Given the description of an element on the screen output the (x, y) to click on. 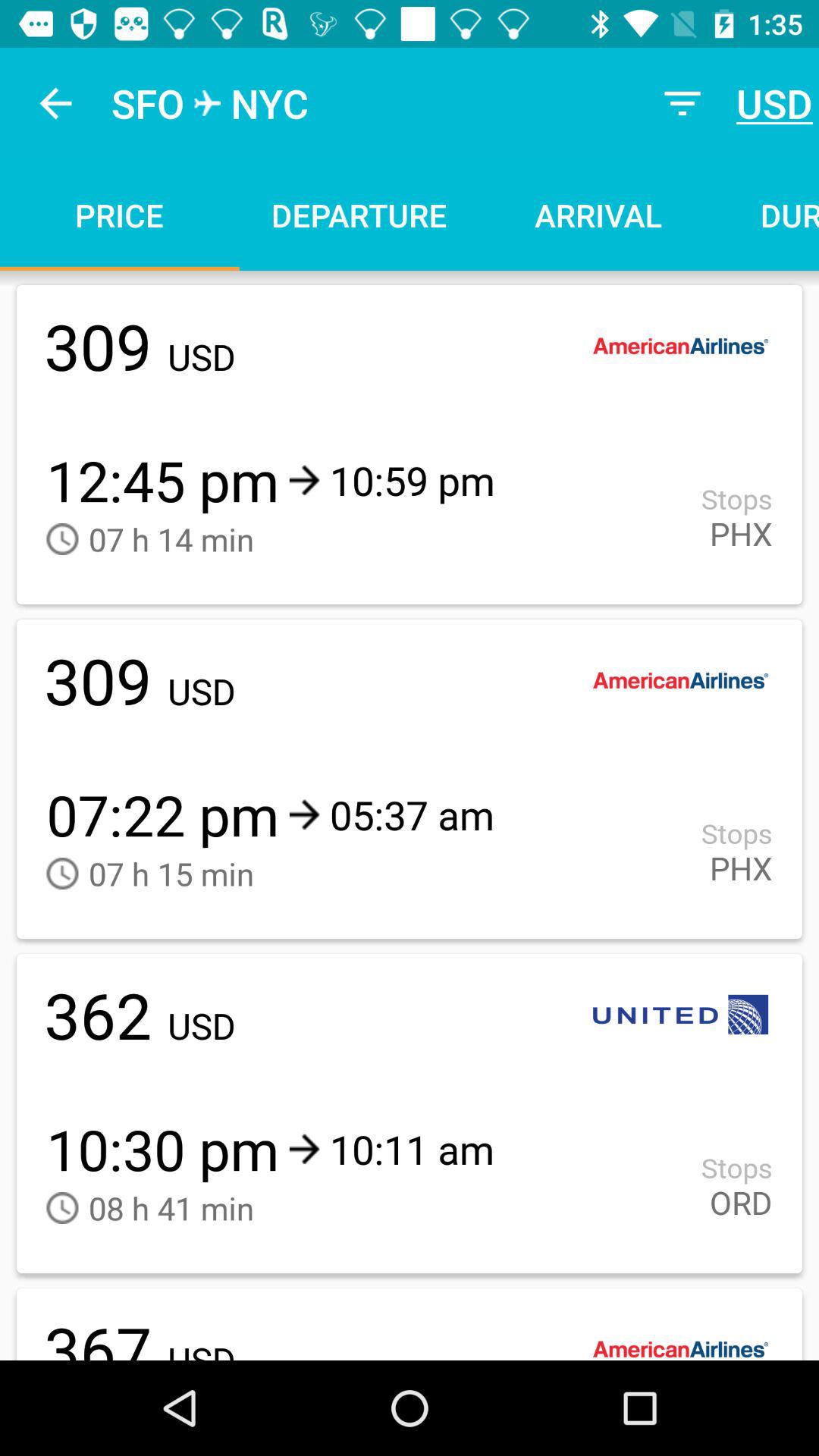
launch the icon to the left of sfo item (55, 103)
